Given the description of an element on the screen output the (x, y) to click on. 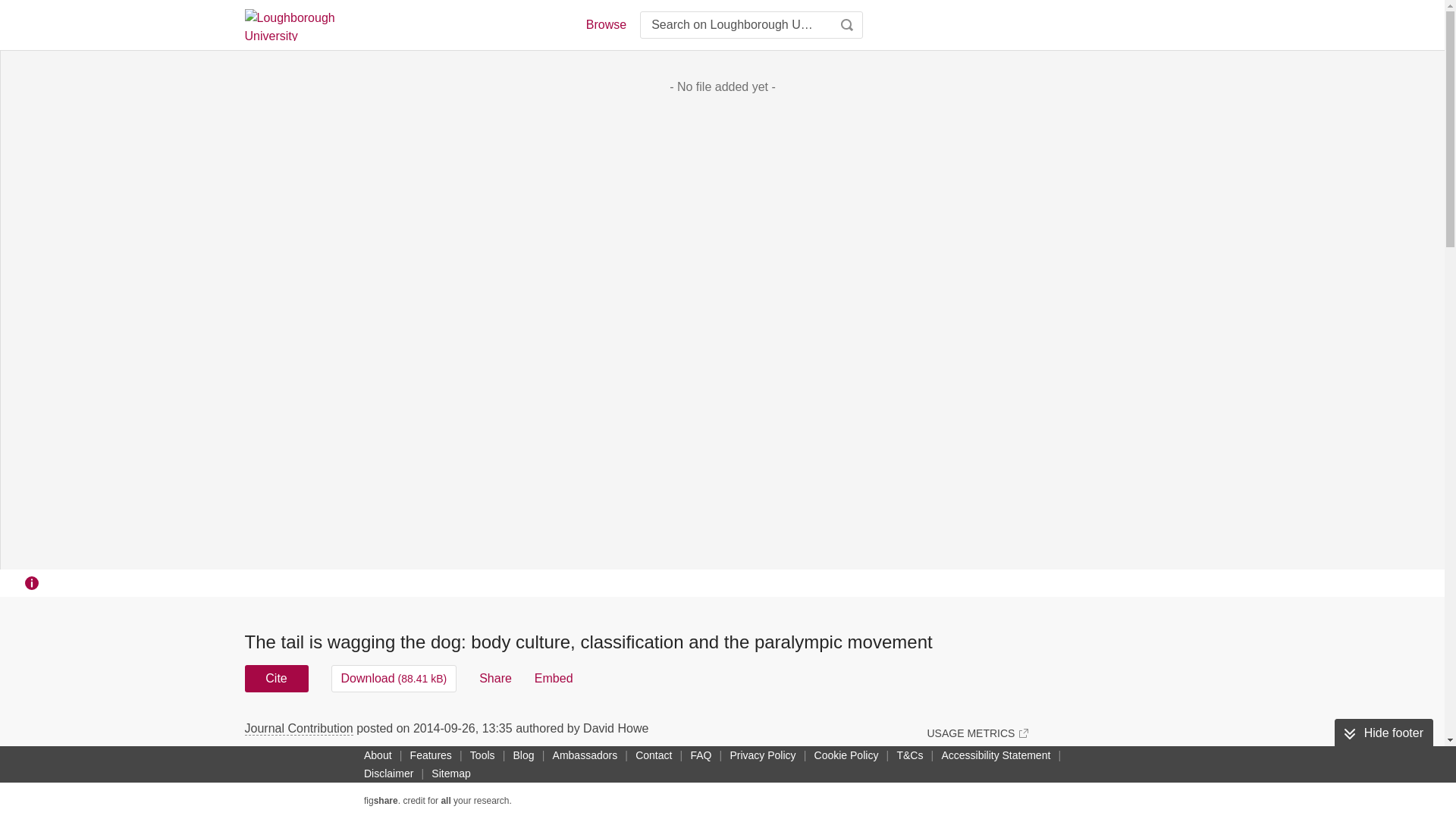
Embed (553, 678)
Cite (275, 678)
About (377, 755)
Features (431, 755)
Hide footer (1383, 733)
Share (495, 678)
Ambassadors (585, 755)
USAGE METRICS (976, 732)
Browse (605, 24)
FAQ (700, 755)
